Given the description of an element on the screen output the (x, y) to click on. 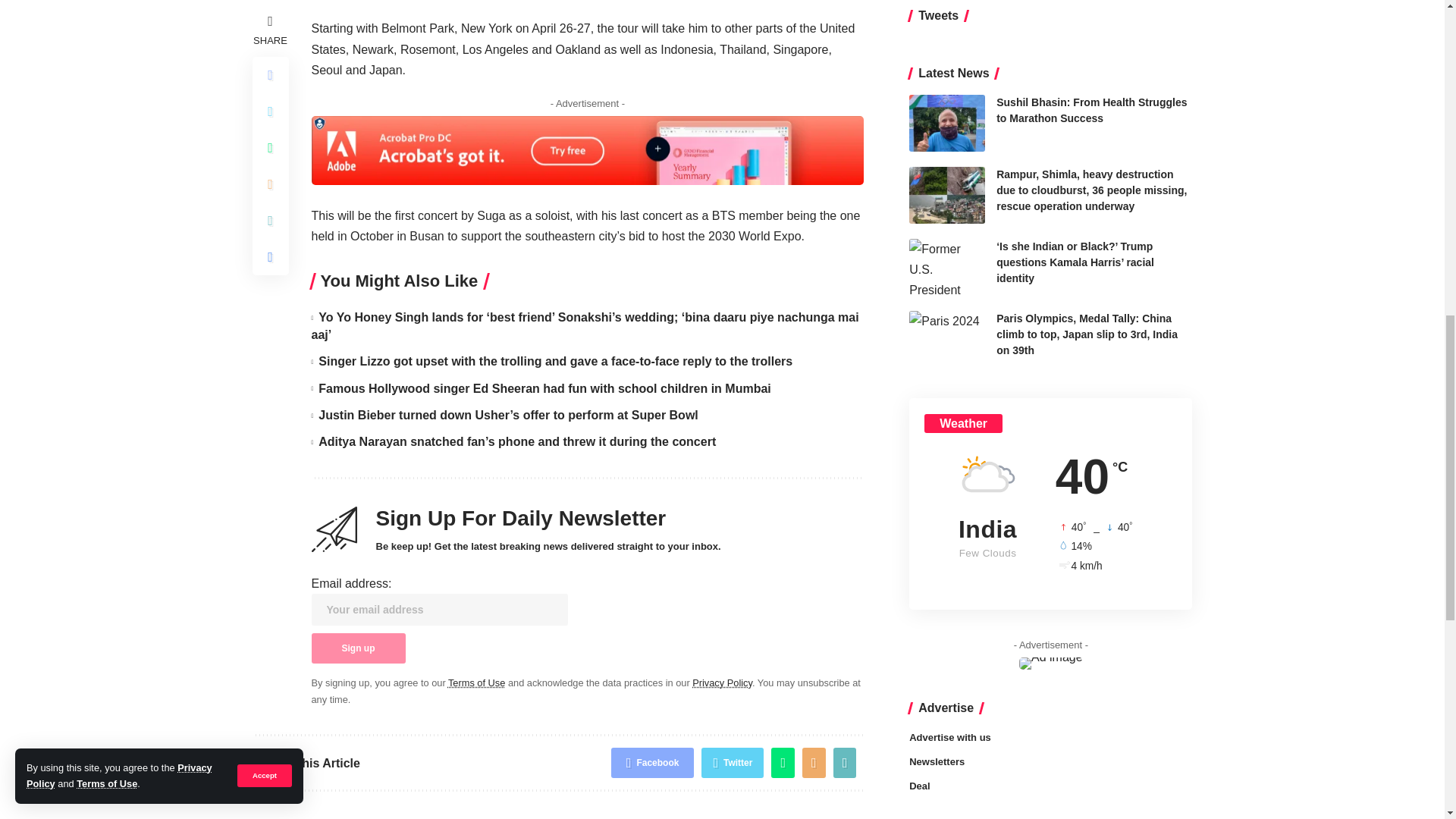
Sign up (357, 648)
Sushil Bhasin: From Health Struggles to Marathon Success (946, 1)
